Given the description of an element on the screen output the (x, y) to click on. 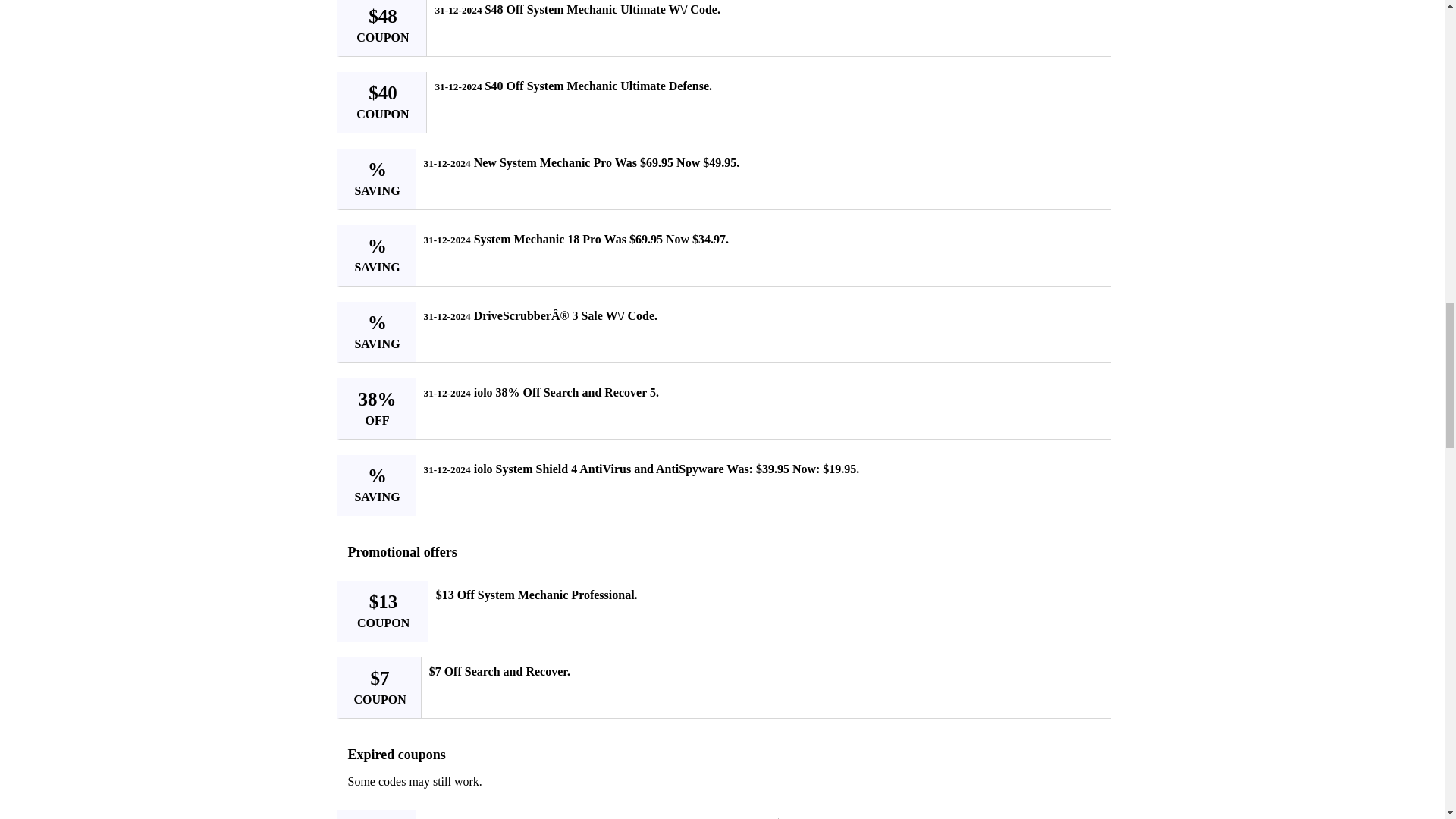
View code (1088, 169)
View code (1088, 818)
View code (1089, 16)
View code (1088, 475)
View code (1088, 399)
Get deal (1093, 601)
View code (1089, 93)
Get deal (1093, 678)
View code (1088, 246)
View code (1088, 322)
